Given the description of an element on the screen output the (x, y) to click on. 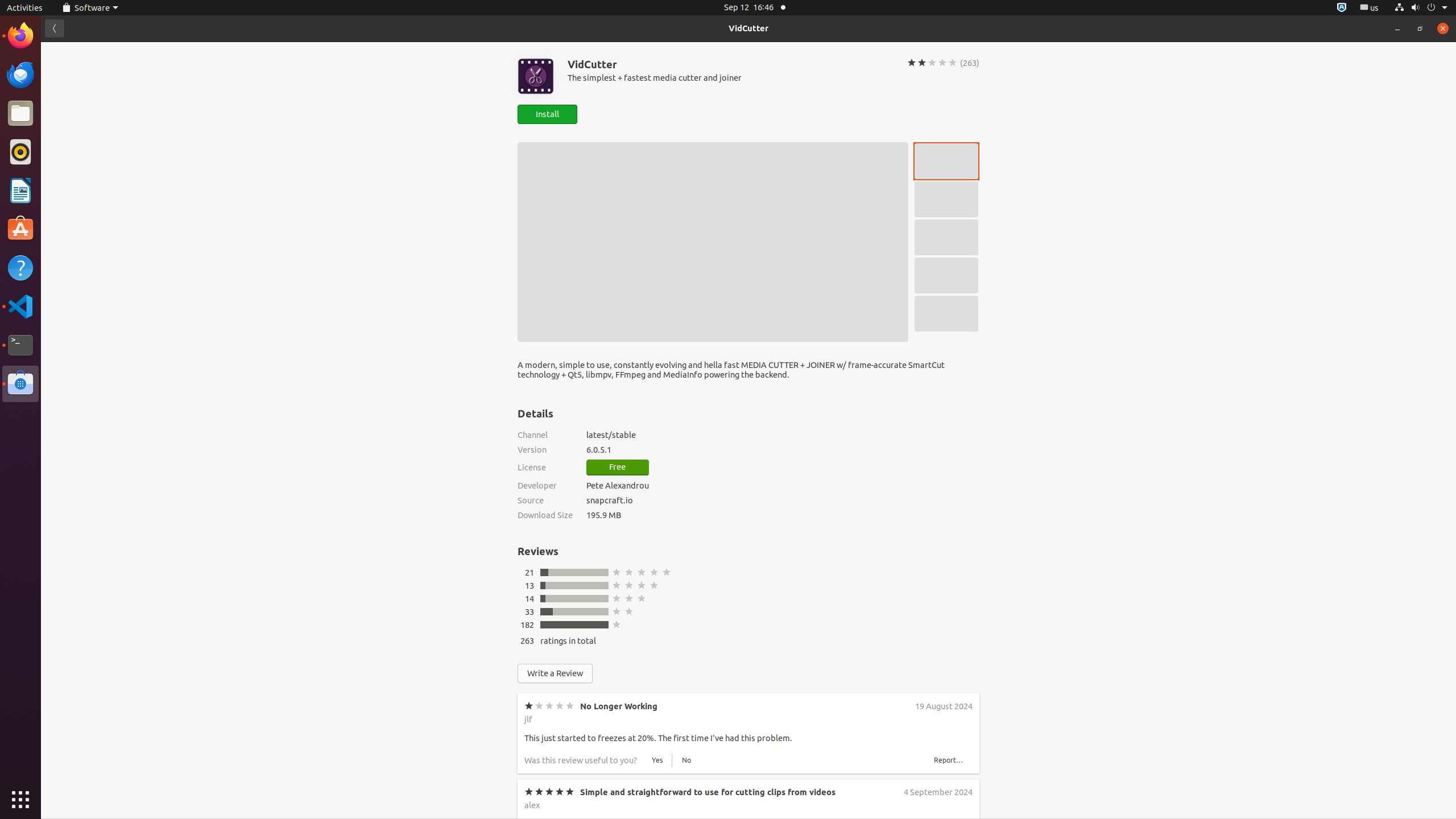
Version Element type: label (544, 449)
(263) Element type: label (969, 62)
jlf Element type: label (528, 719)
14 Element type: label (529, 598)
Activities Element type: label (24, 7)
